Given the description of an element on the screen output the (x, y) to click on. 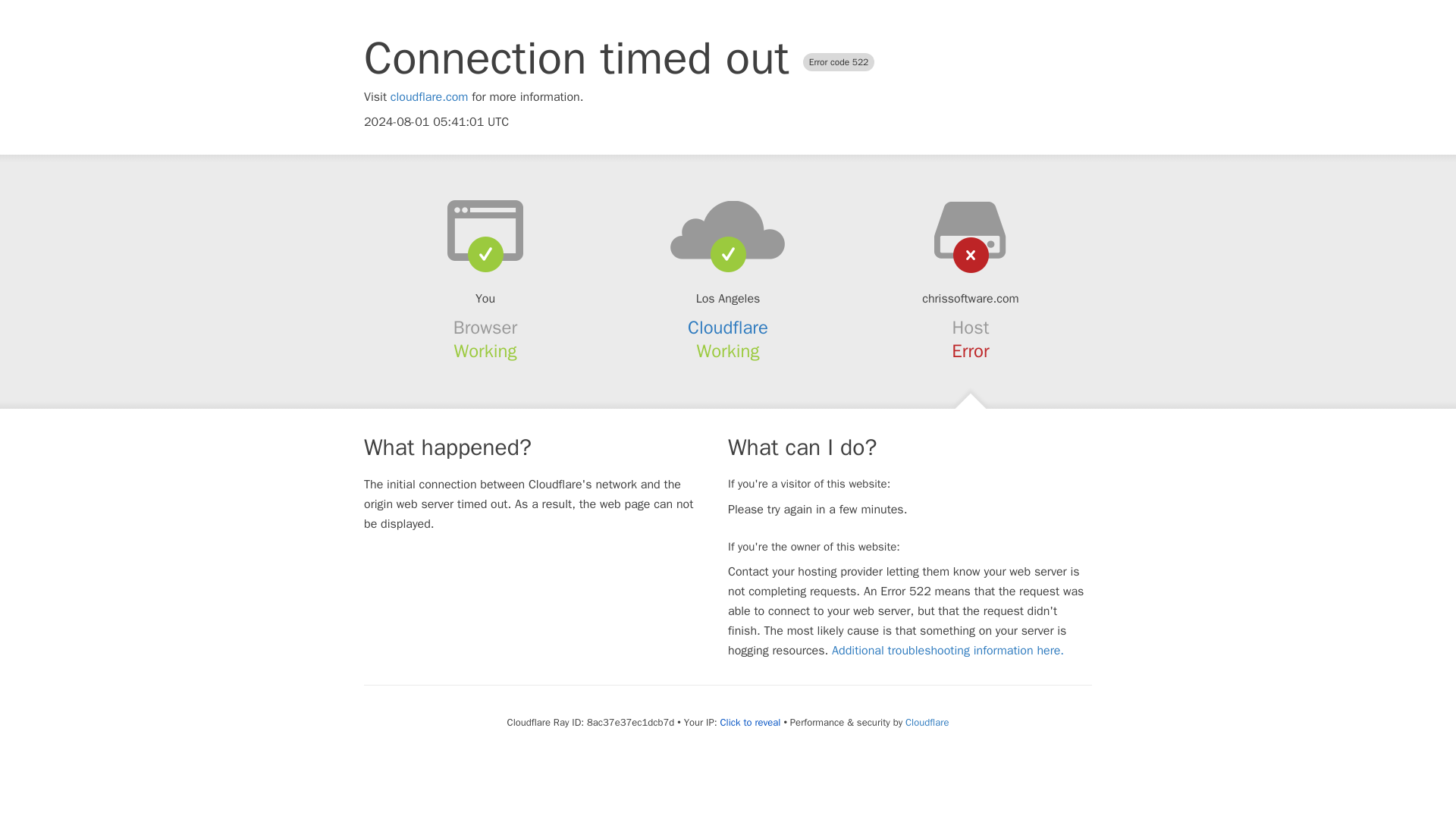
cloudflare.com (429, 96)
Additional troubleshooting information here. (947, 650)
Cloudflare (727, 327)
Click to reveal (750, 722)
Cloudflare (927, 721)
